Given the description of an element on the screen output the (x, y) to click on. 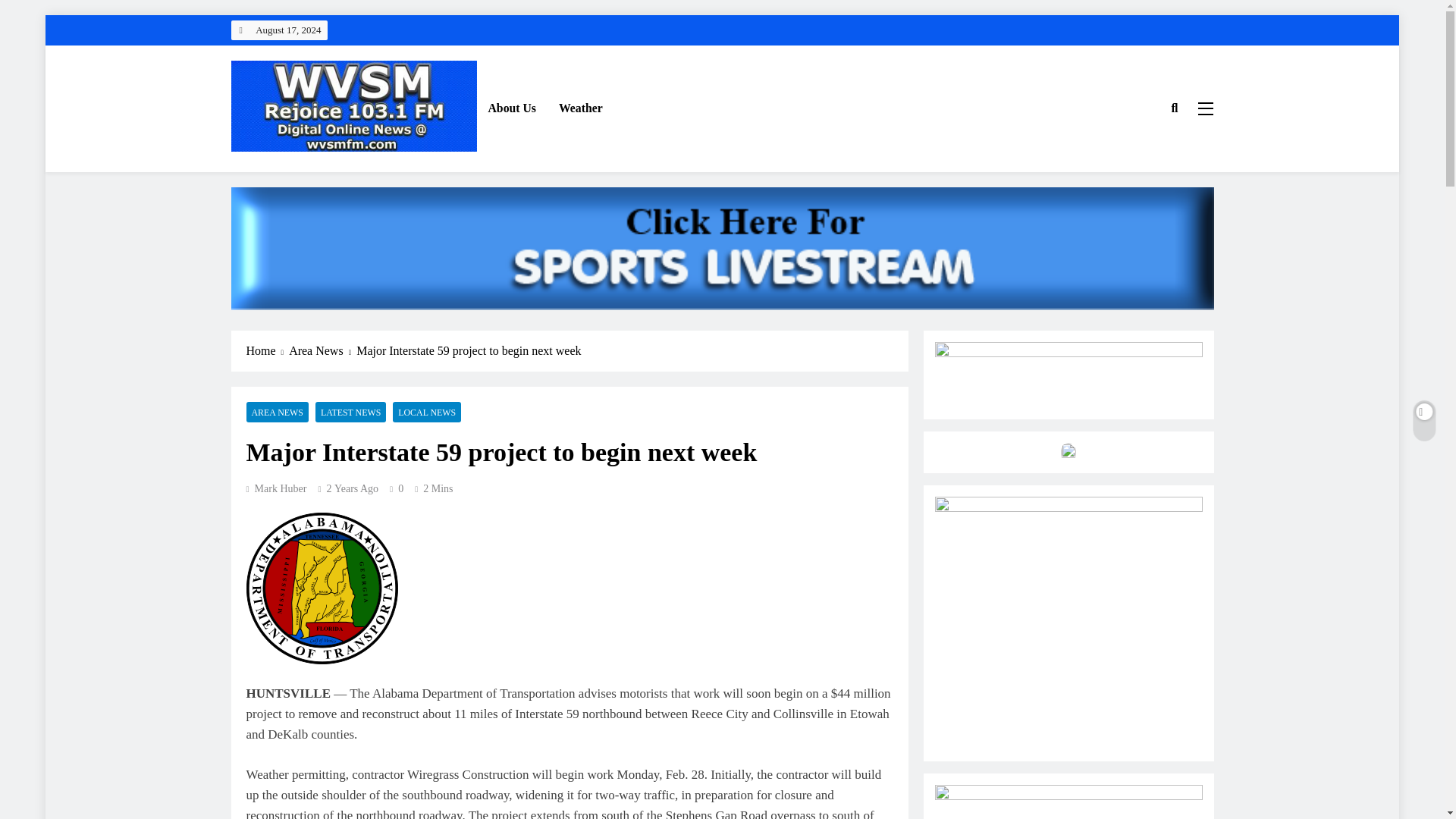
Home (267, 351)
WVSM Digital Online News (368, 173)
Mark Huber (275, 488)
LOCAL NEWS (427, 412)
Area News (322, 351)
2 Years Ago (352, 488)
LATEST NEWS (350, 412)
About Us (511, 107)
Weather (580, 107)
